Given the description of an element on the screen output the (x, y) to click on. 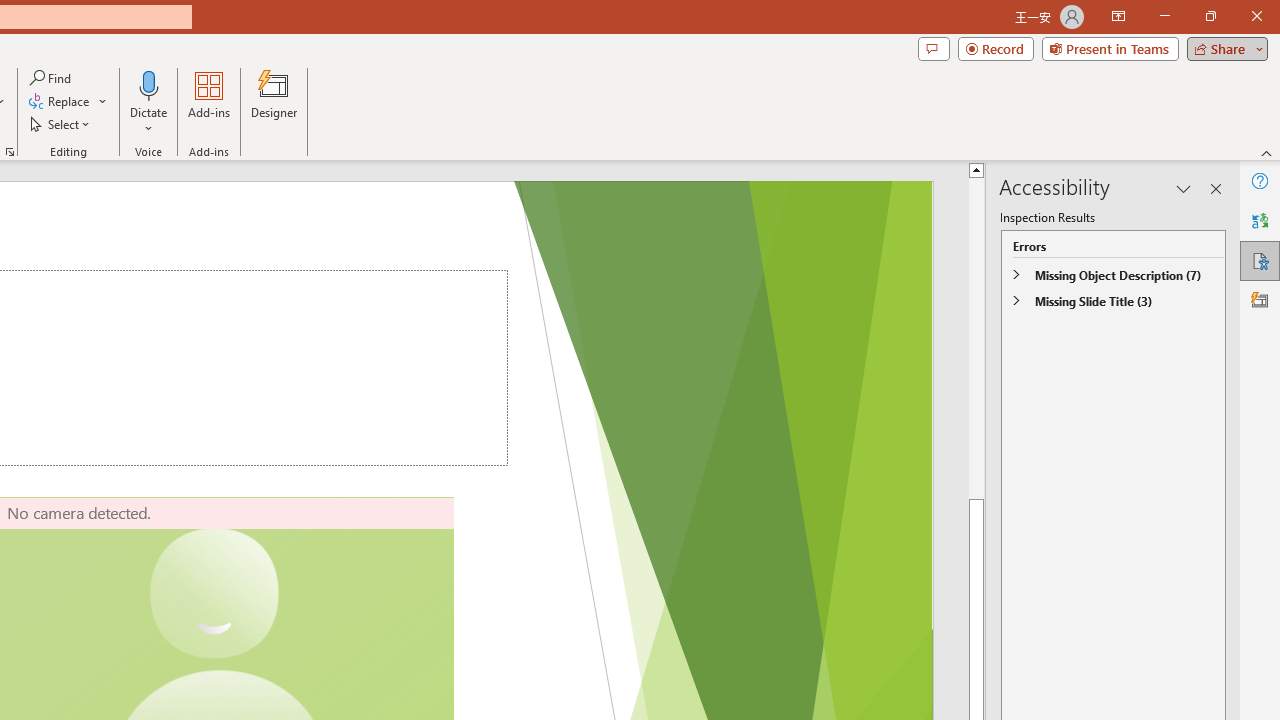
Select (61, 124)
Format Object... (9, 151)
